Given the description of an element on the screen output the (x, y) to click on. 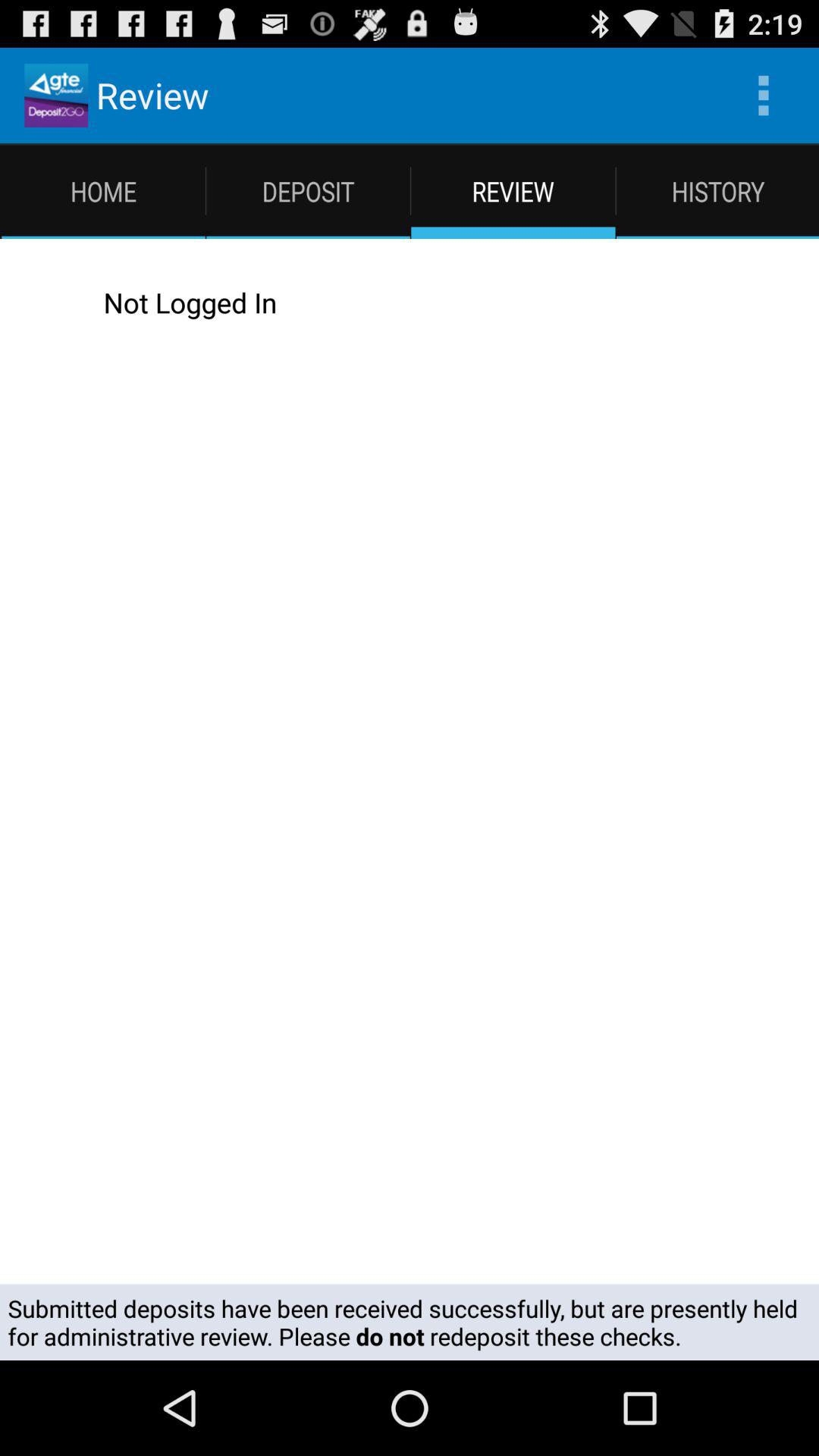
press icon below the home (41, 302)
